Given the description of an element on the screen output the (x, y) to click on. 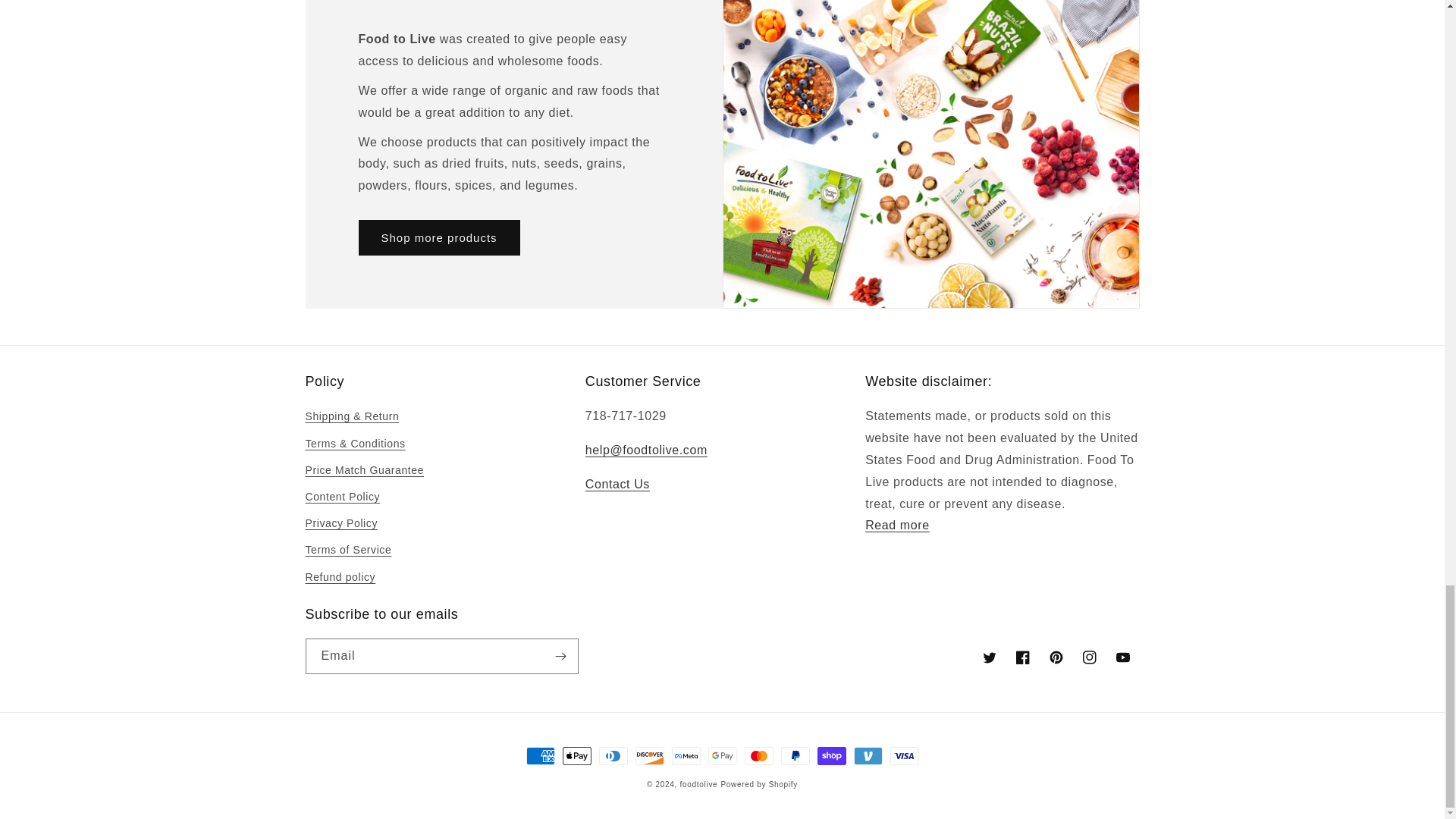
Privacy Policy (897, 524)
Contact (617, 483)
